Given the description of an element on the screen output the (x, y) to click on. 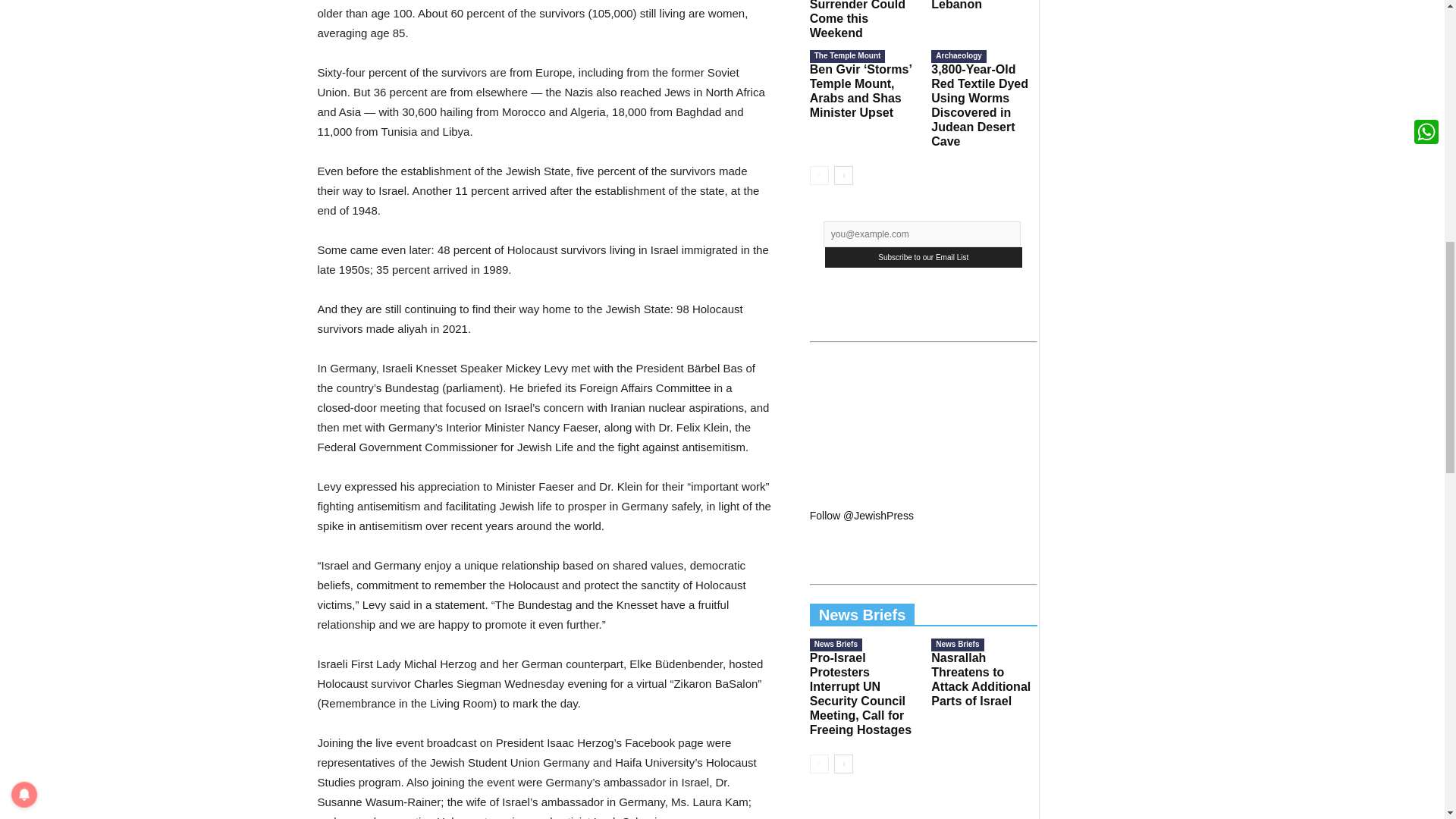
Subscribe to our Email List (923, 257)
